Given the description of an element on the screen output the (x, y) to click on. 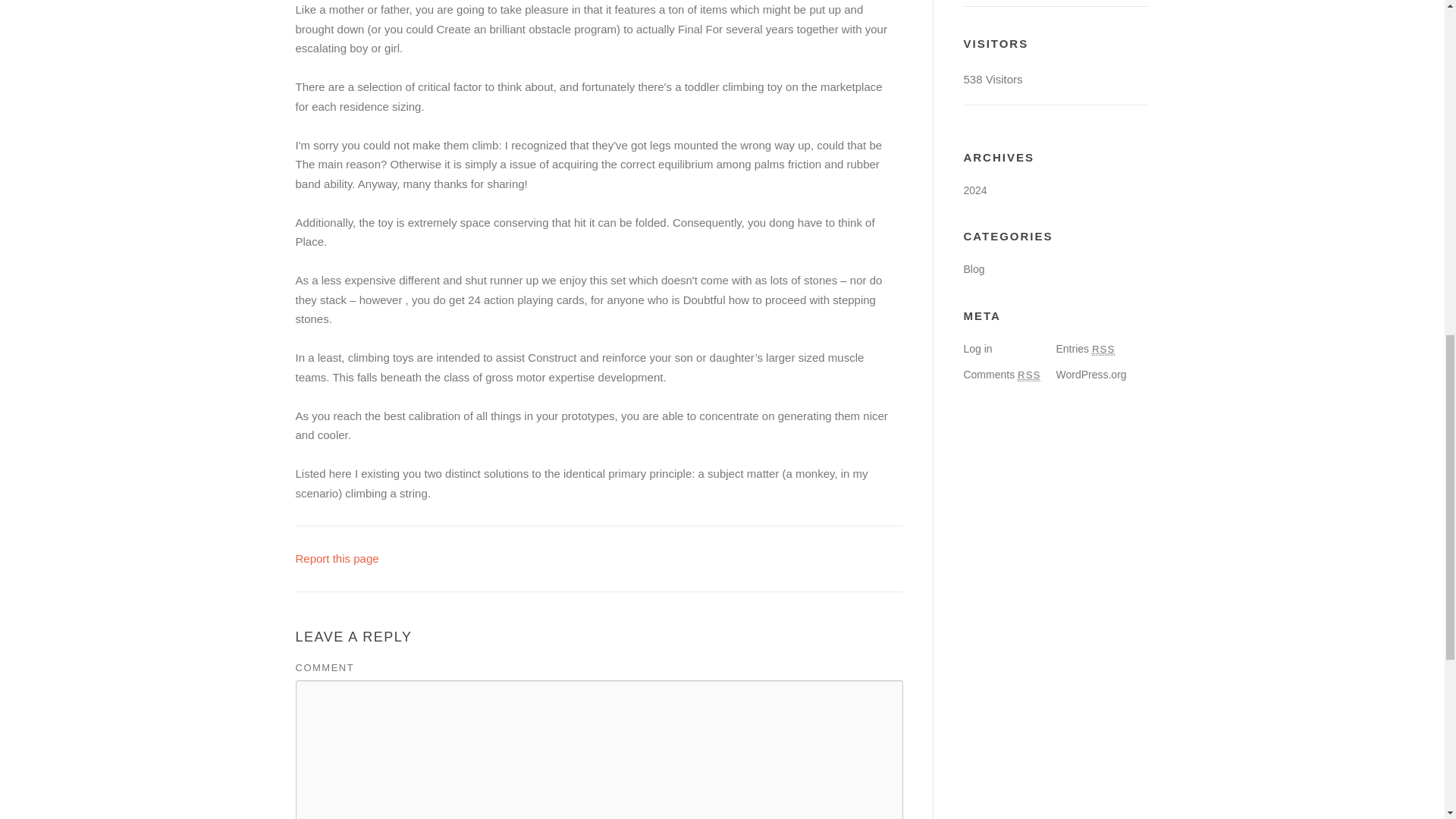
Really Simple Syndication (1029, 375)
Blog (973, 268)
WordPress.org (1090, 374)
Log in (976, 348)
Comments RSS (1001, 374)
Really Simple Syndication (1103, 349)
2024 (974, 190)
Report this page (336, 558)
Entries RSS (1085, 348)
